Given the description of an element on the screen output the (x, y) to click on. 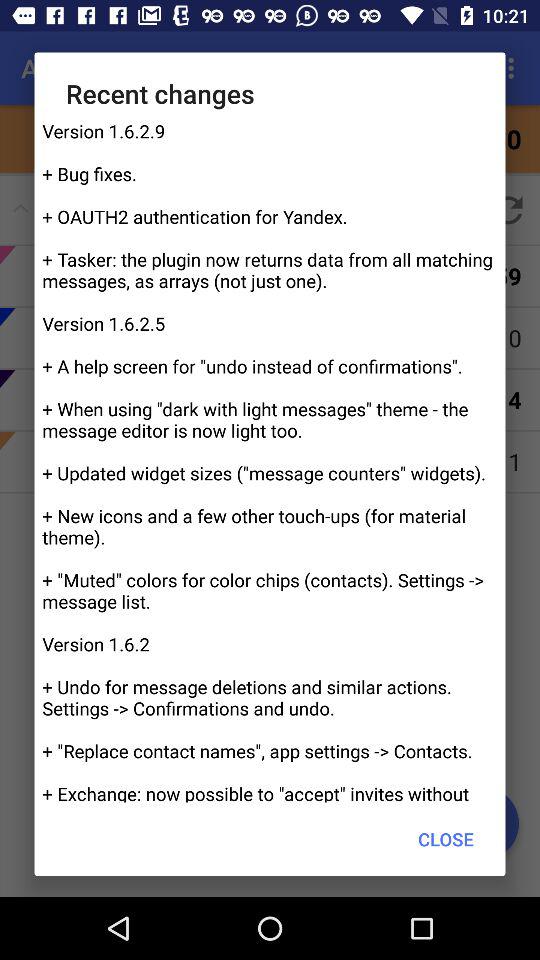
open the close (445, 838)
